Given the description of an element on the screen output the (x, y) to click on. 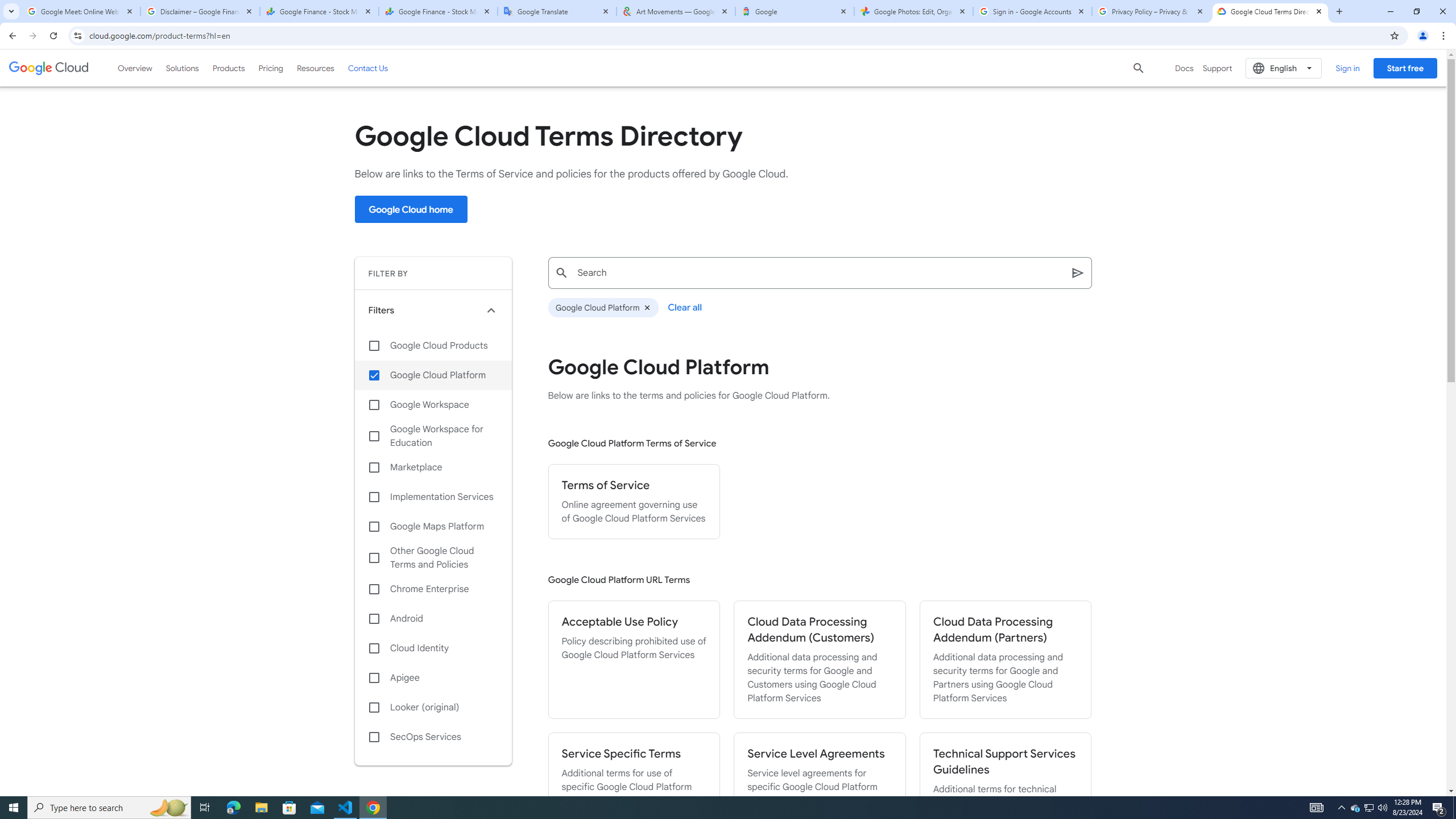
Google Cloud (48, 67)
Filters keyboard_arrow_up (432, 309)
Google Maps Platform (432, 526)
Google (794, 11)
Google Cloud Products (432, 345)
Looker (original) (432, 707)
Google Workspace for Education (432, 435)
Start free (1405, 67)
Google Cloud Platform (602, 307)
Contact Us (368, 67)
